Given the description of an element on the screen output the (x, y) to click on. 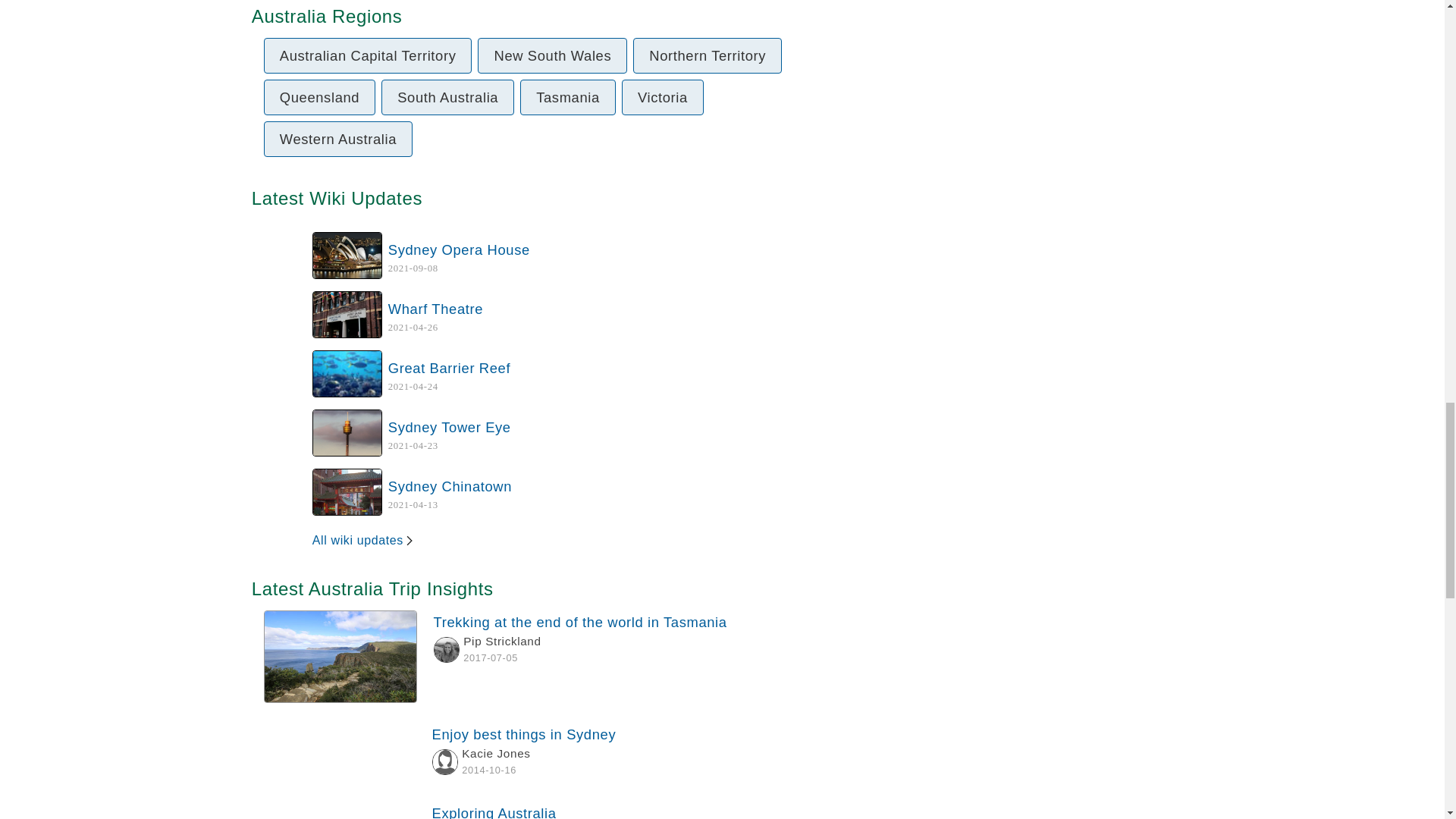
Northern Territory (562, 755)
Sydney Tower Eye (707, 55)
Great Barrier Reef (449, 426)
Western Australia (449, 367)
Sydney Chinatown (337, 139)
New South Wales (450, 486)
Wharf Theatre (552, 55)
All wiki updates (562, 810)
South Australia (435, 308)
Tasmania (363, 539)
Queensland (447, 97)
Australian Capital Territory (567, 97)
